Given the description of an element on the screen output the (x, y) to click on. 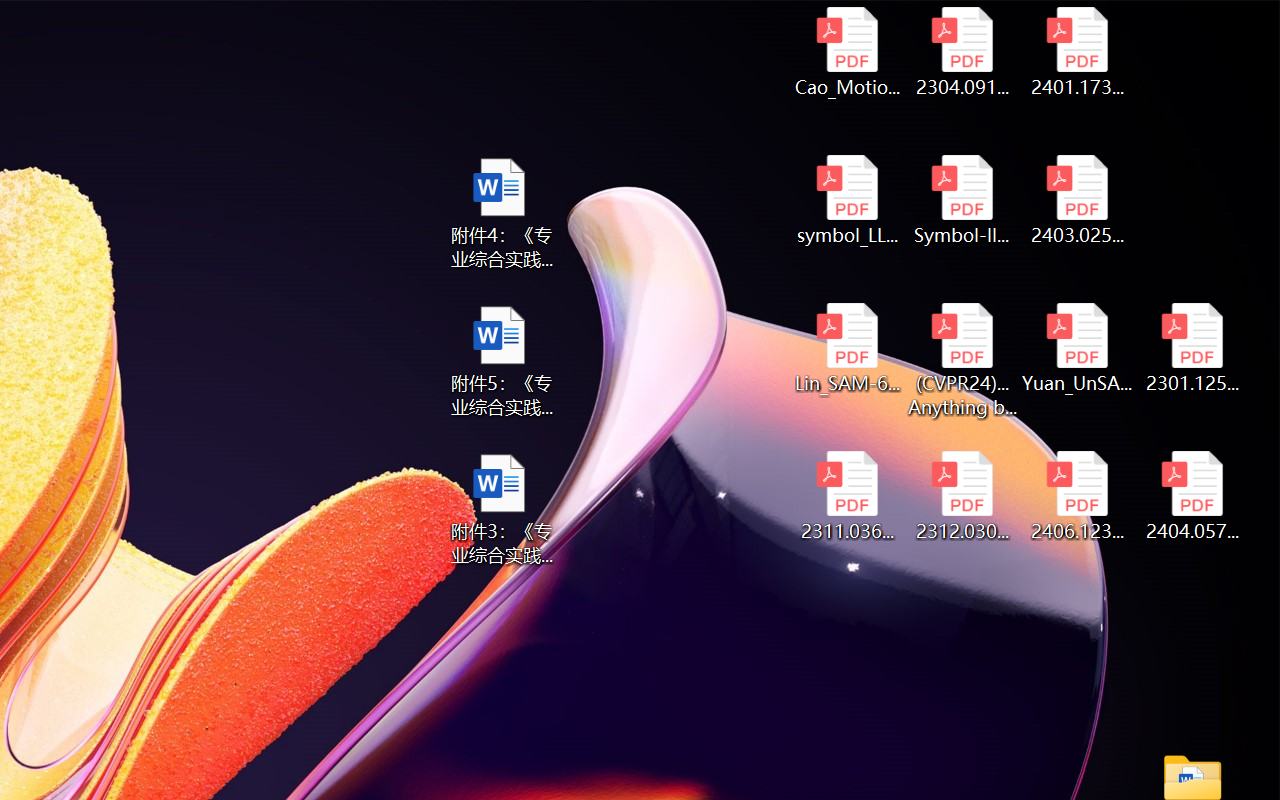
2403.02502v1.pdf (1077, 200)
symbol_LLM.pdf (846, 200)
2311.03658v2.pdf (846, 496)
2401.17399v1.pdf (1077, 52)
2404.05719v1.pdf (1192, 496)
2312.03032v2.pdf (962, 496)
2406.12373v2.pdf (1077, 496)
Symbol-llm-v2.pdf (962, 200)
2304.09121v3.pdf (962, 52)
(CVPR24)Matching Anything by Segmenting Anything.pdf (962, 360)
